Given the description of an element on the screen output the (x, y) to click on. 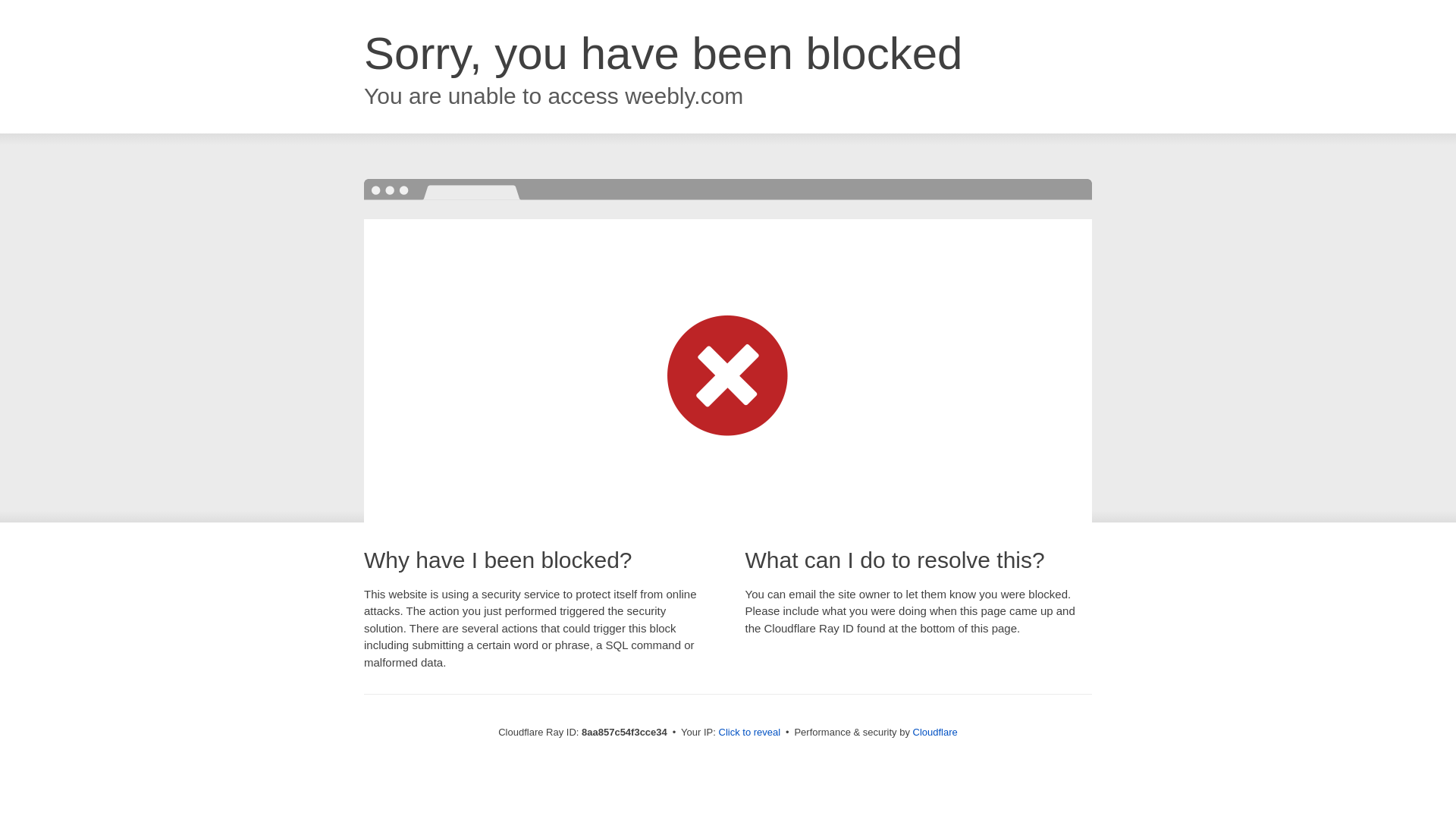
Cloudflare (935, 731)
Click to reveal (749, 732)
